Given the description of an element on the screen output the (x, y) to click on. 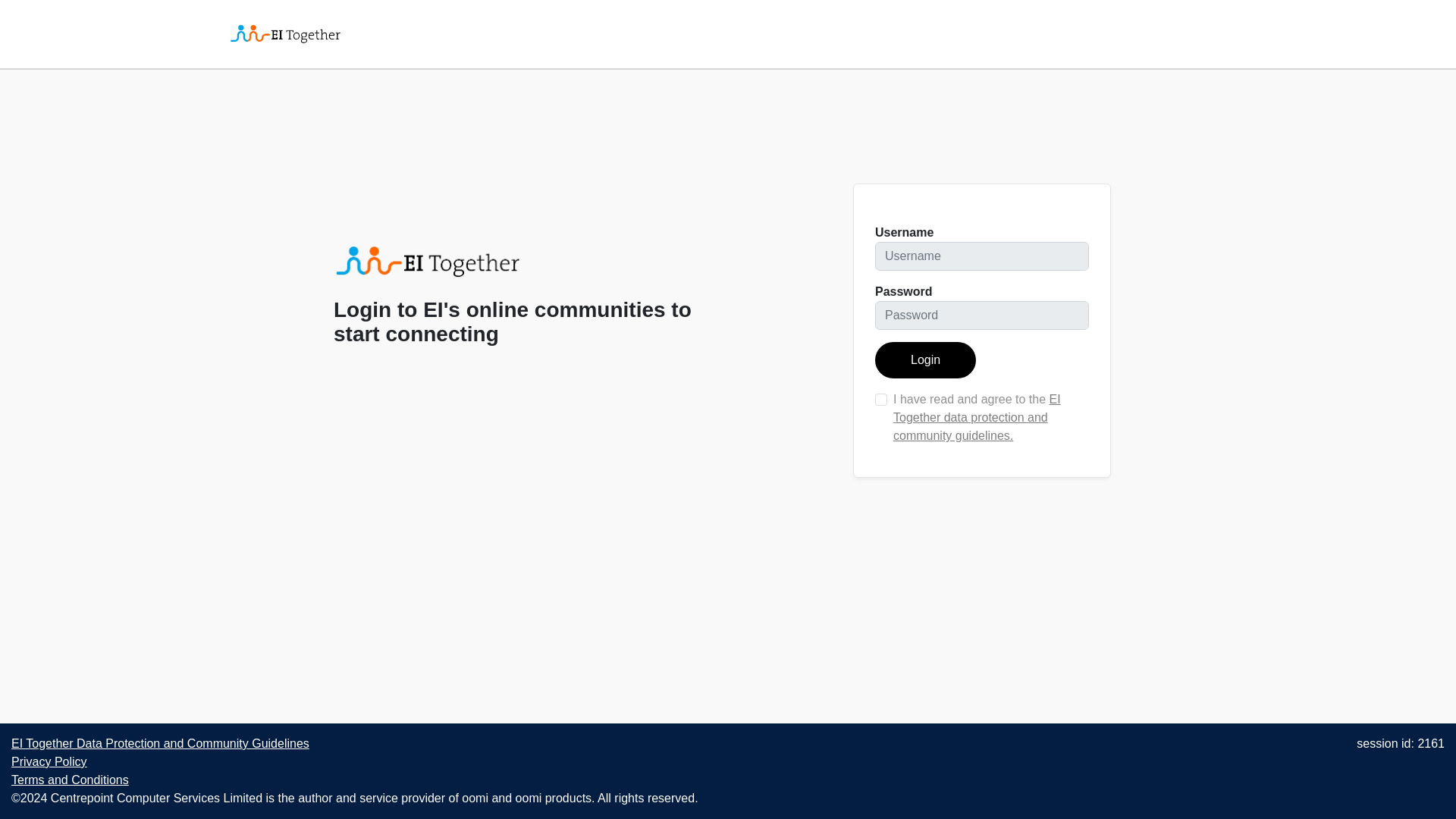
EI Together data protection and community guidelines. (977, 417)
Login (925, 360)
Terms and Conditions (70, 779)
on (880, 399)
EI Together Data Protection and Community Guidelines (159, 743)
Privacy Policy (49, 761)
